Given the description of an element on the screen output the (x, y) to click on. 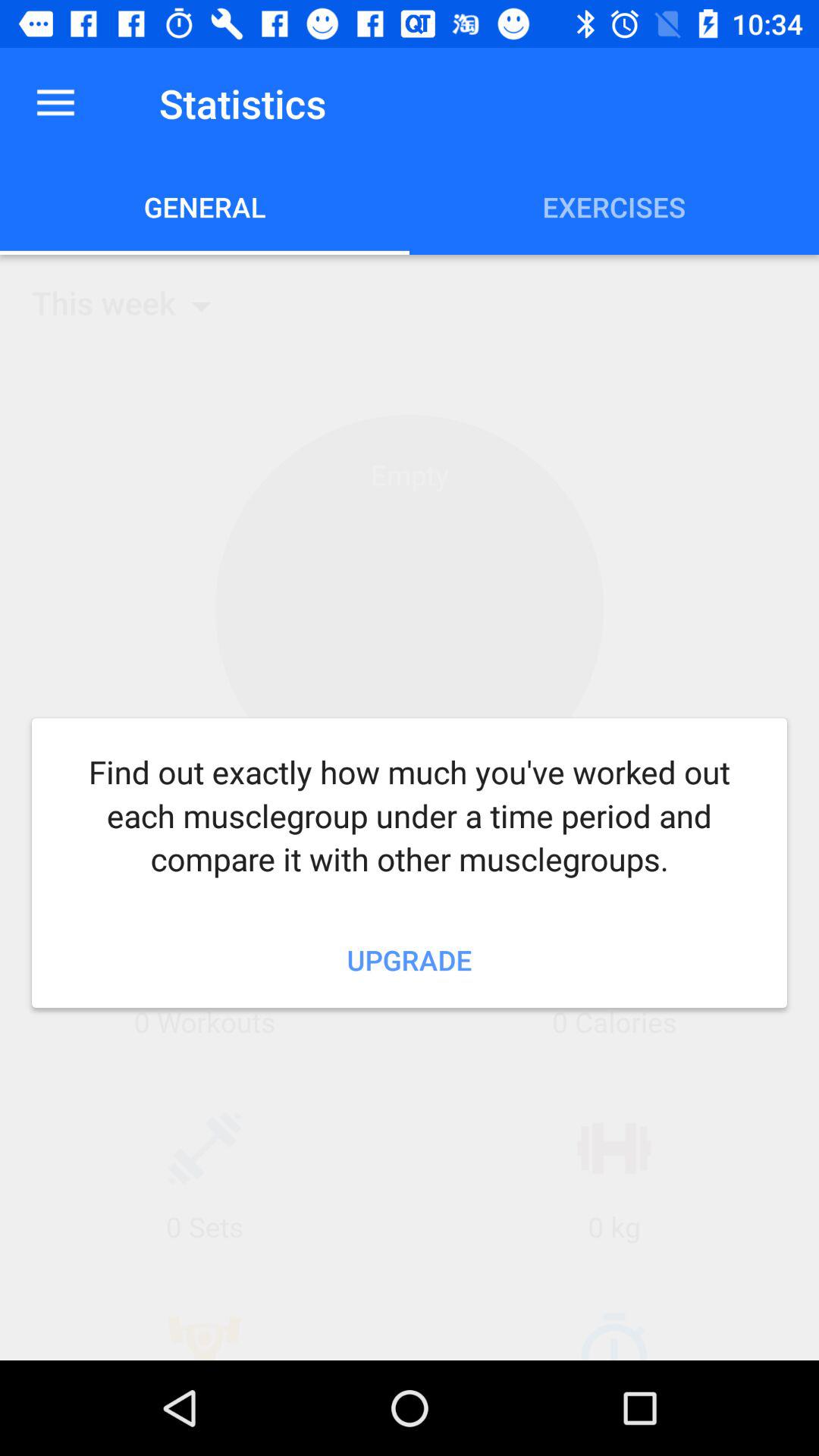
click item next to the exercises (204, 206)
